Given the description of an element on the screen output the (x, y) to click on. 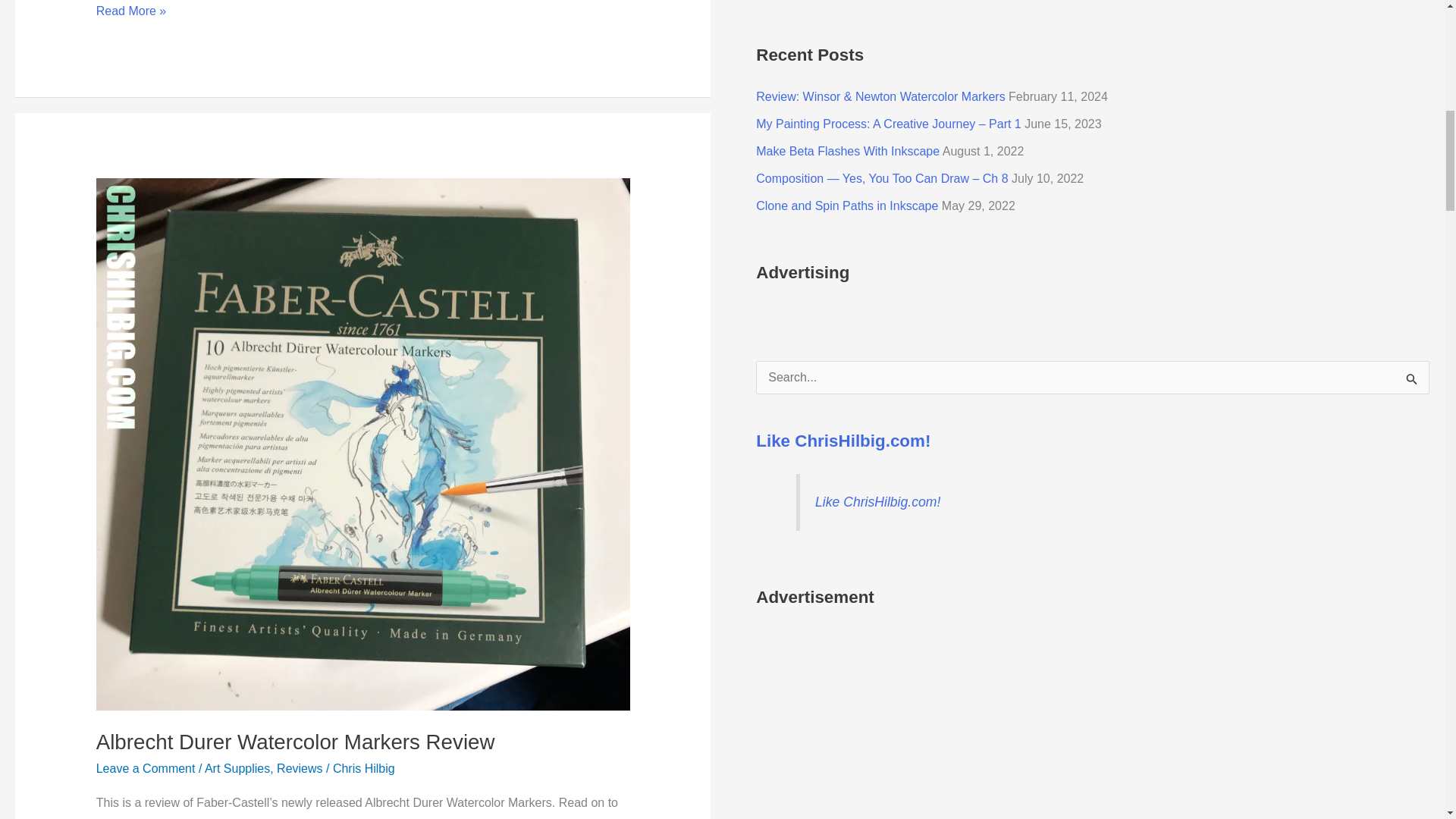
View all posts by Chris Hilbig (363, 768)
